Given the description of an element on the screen output the (x, y) to click on. 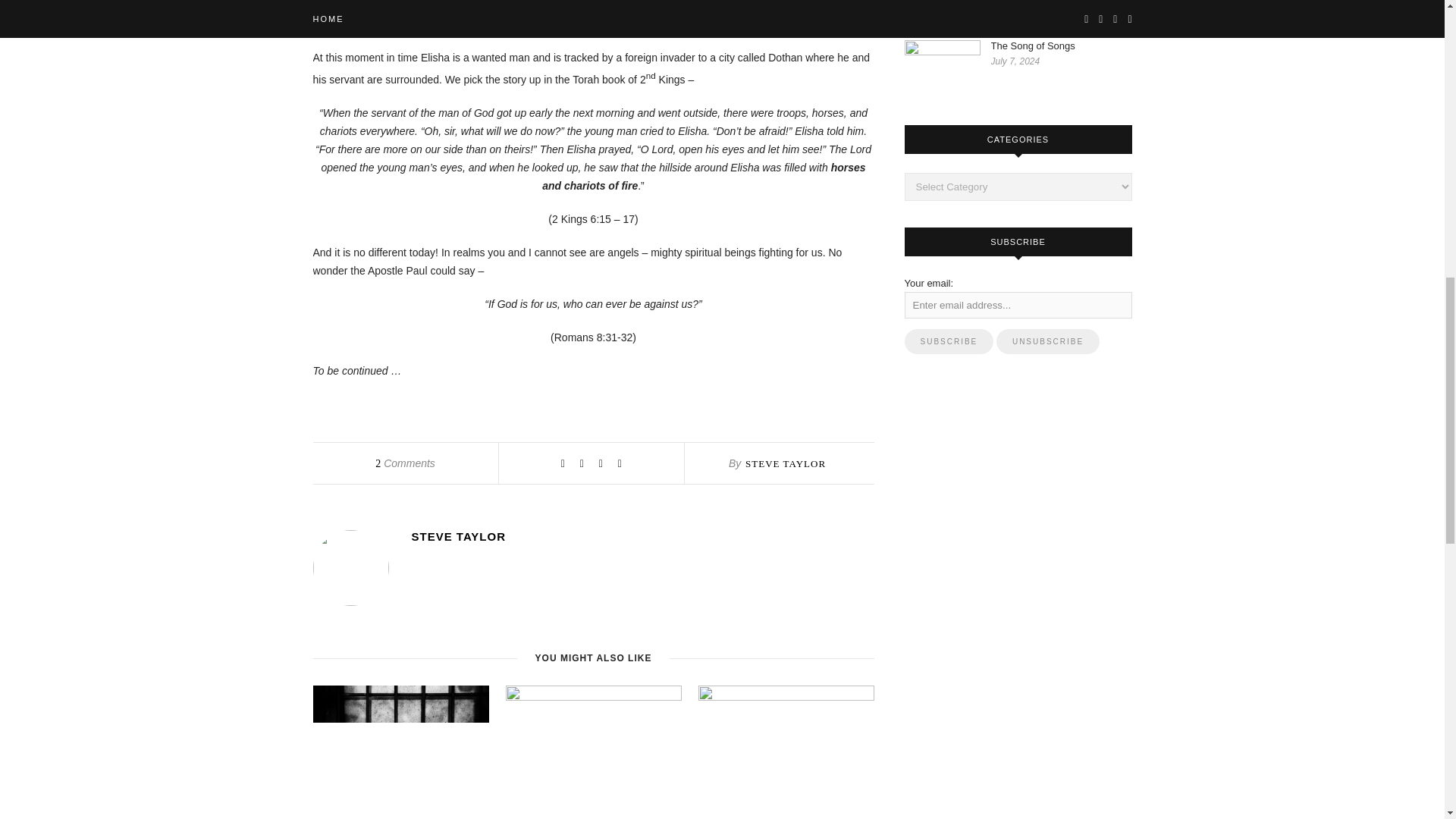
Posts by Steve Taylor (641, 535)
Enter email address... (1017, 304)
2 Comments (405, 463)
Unsubscribe (1047, 341)
Subscribe (948, 341)
Unsubscribe (1047, 341)
STEVE TAYLOR (641, 535)
STEVE TAYLOR (785, 463)
The Song of Songs (1060, 45)
Posts by Steve Taylor (785, 463)
